Given the description of an element on the screen output the (x, y) to click on. 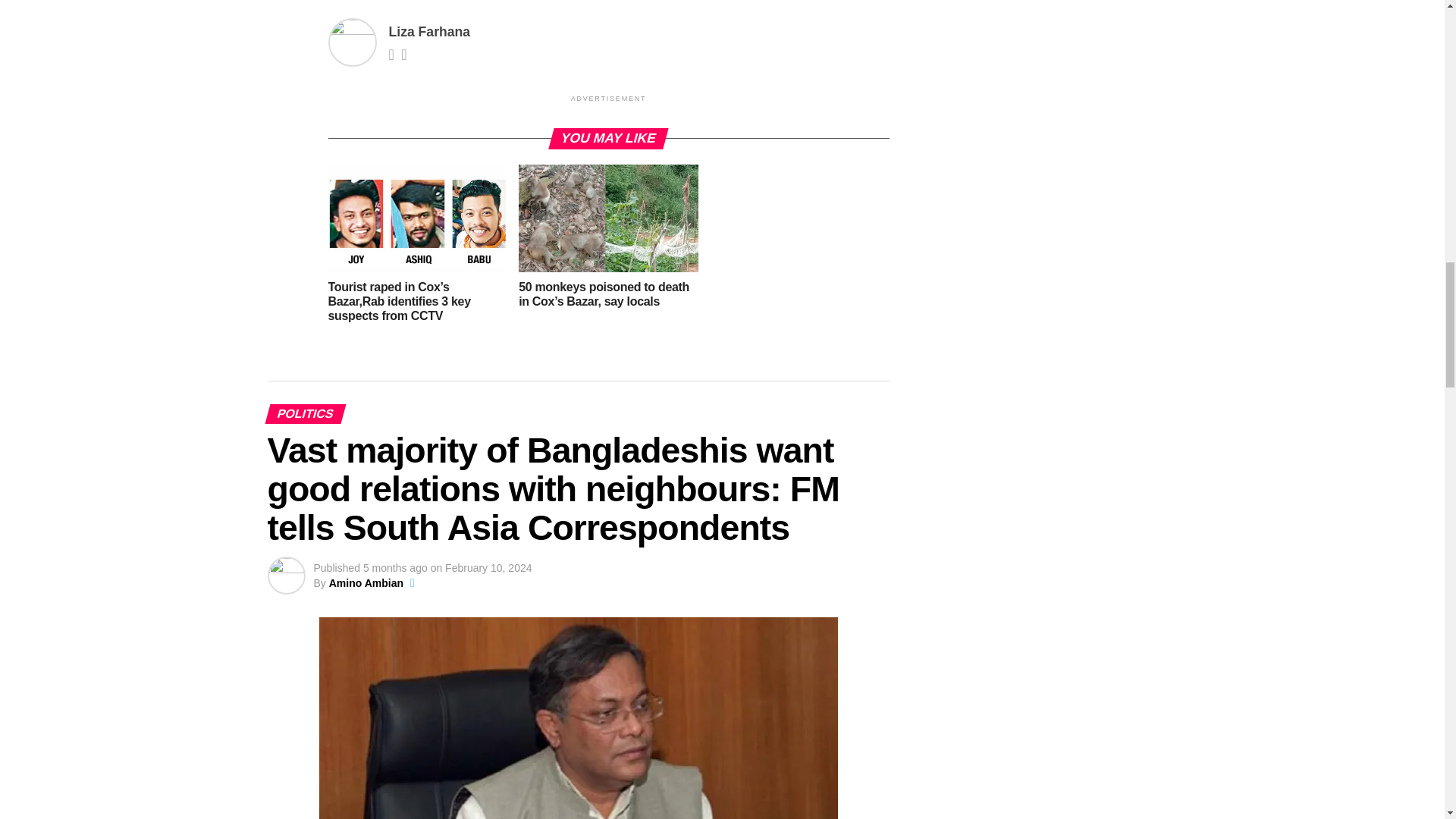
Posts by Amino Ambian (366, 582)
Posts by Liza Farhana (429, 31)
